Given the description of an element on the screen output the (x, y) to click on. 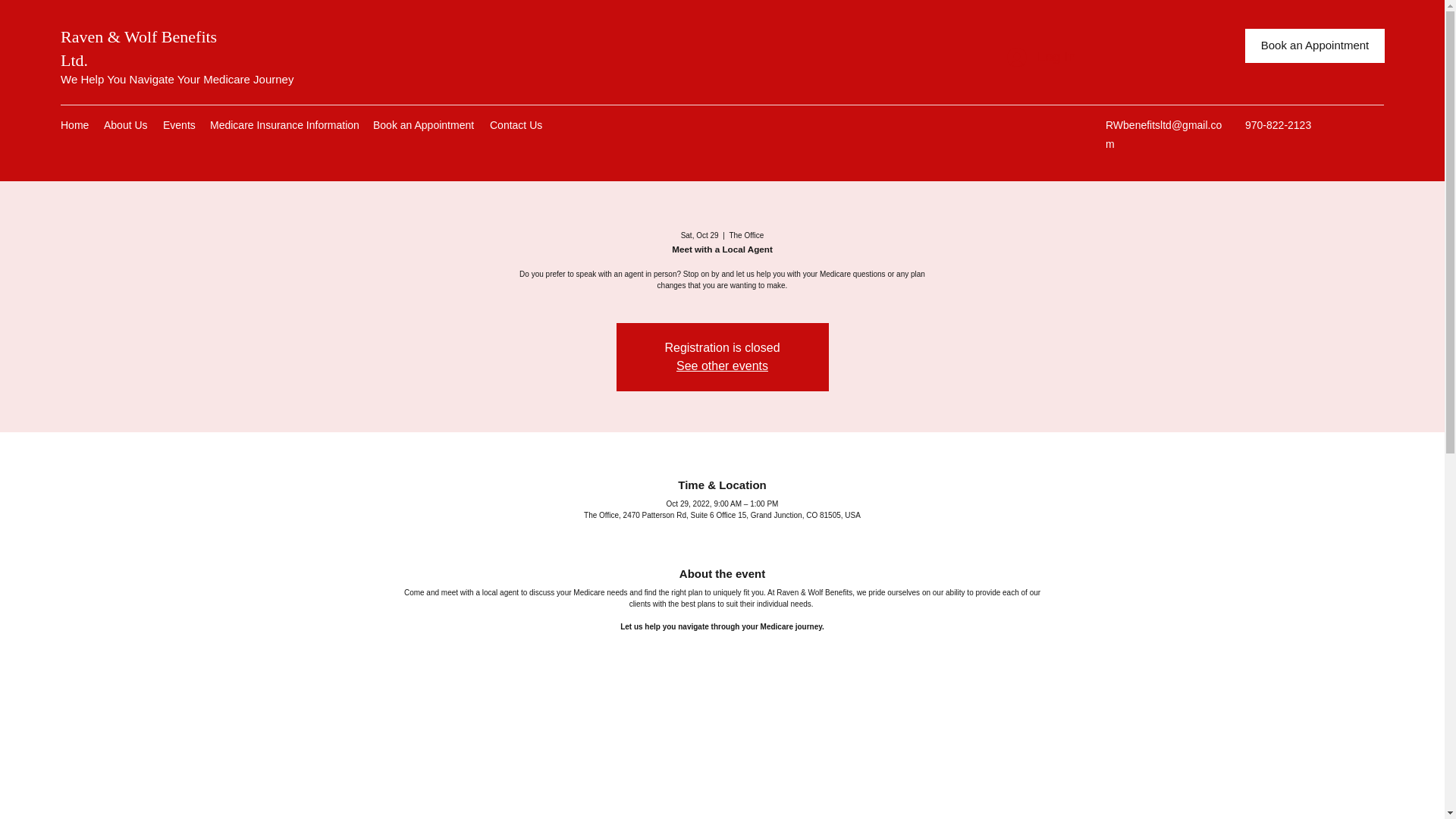
Events (178, 124)
Home (74, 124)
Contact Us (514, 124)
About Us (125, 124)
Book an Appointment (423, 124)
Medicare Insurance Information (283, 124)
Log In (1040, 57)
See other events (722, 365)
Book an Appointment (1314, 45)
